Given the description of an element on the screen output the (x, y) to click on. 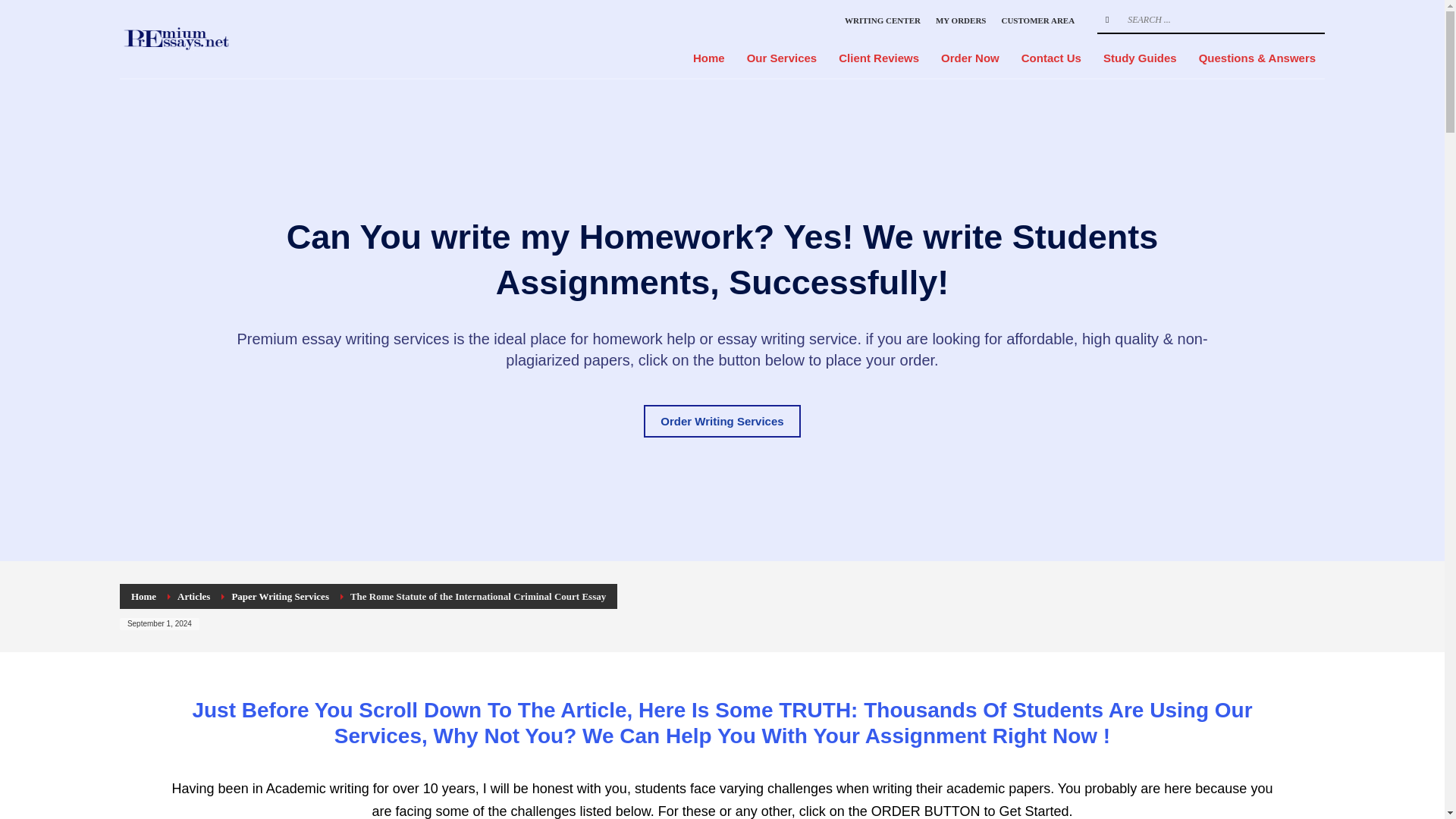
Home (708, 57)
Click me (721, 420)
Articles (193, 595)
MY ORDERS (961, 20)
go (1107, 19)
Our Services (782, 57)
Paper Writing Services (280, 595)
Order Now (970, 57)
Articles (193, 595)
Study Guides (1140, 57)
